Given the description of an element on the screen output the (x, y) to click on. 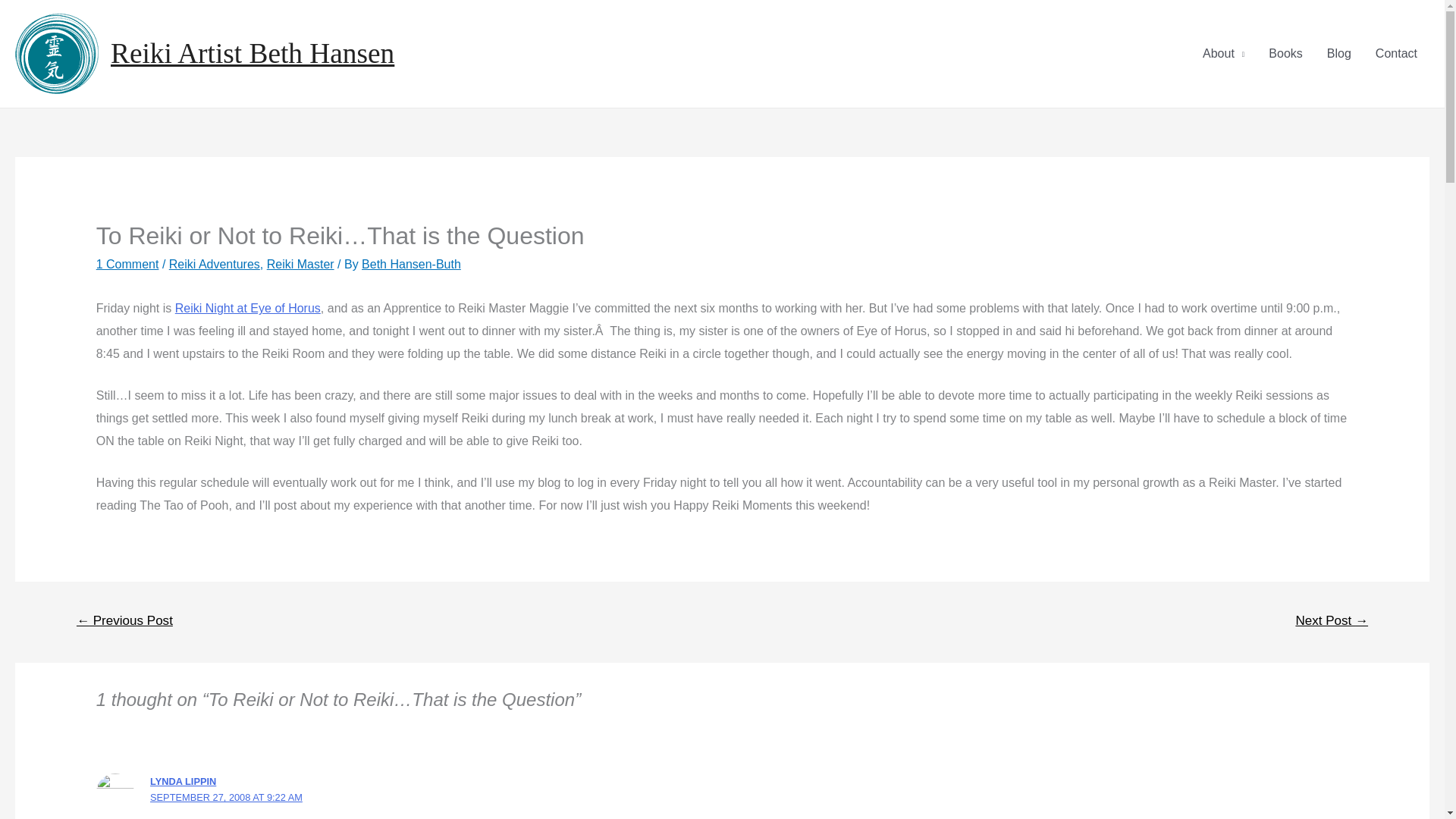
Beth Hansen-Buth (411, 264)
View all posts by Beth Hansen-Buth (411, 264)
1 Comment (127, 264)
Reiki Night at Eye of Horus (247, 308)
Reiki Artist Beth Hansen (252, 52)
LYNDA LIPPIN (182, 781)
SEPTEMBER 27, 2008 AT 9:22 AM (225, 797)
Reiki Adventures (214, 264)
Reiki Master (300, 264)
